Given the description of an element on the screen output the (x, y) to click on. 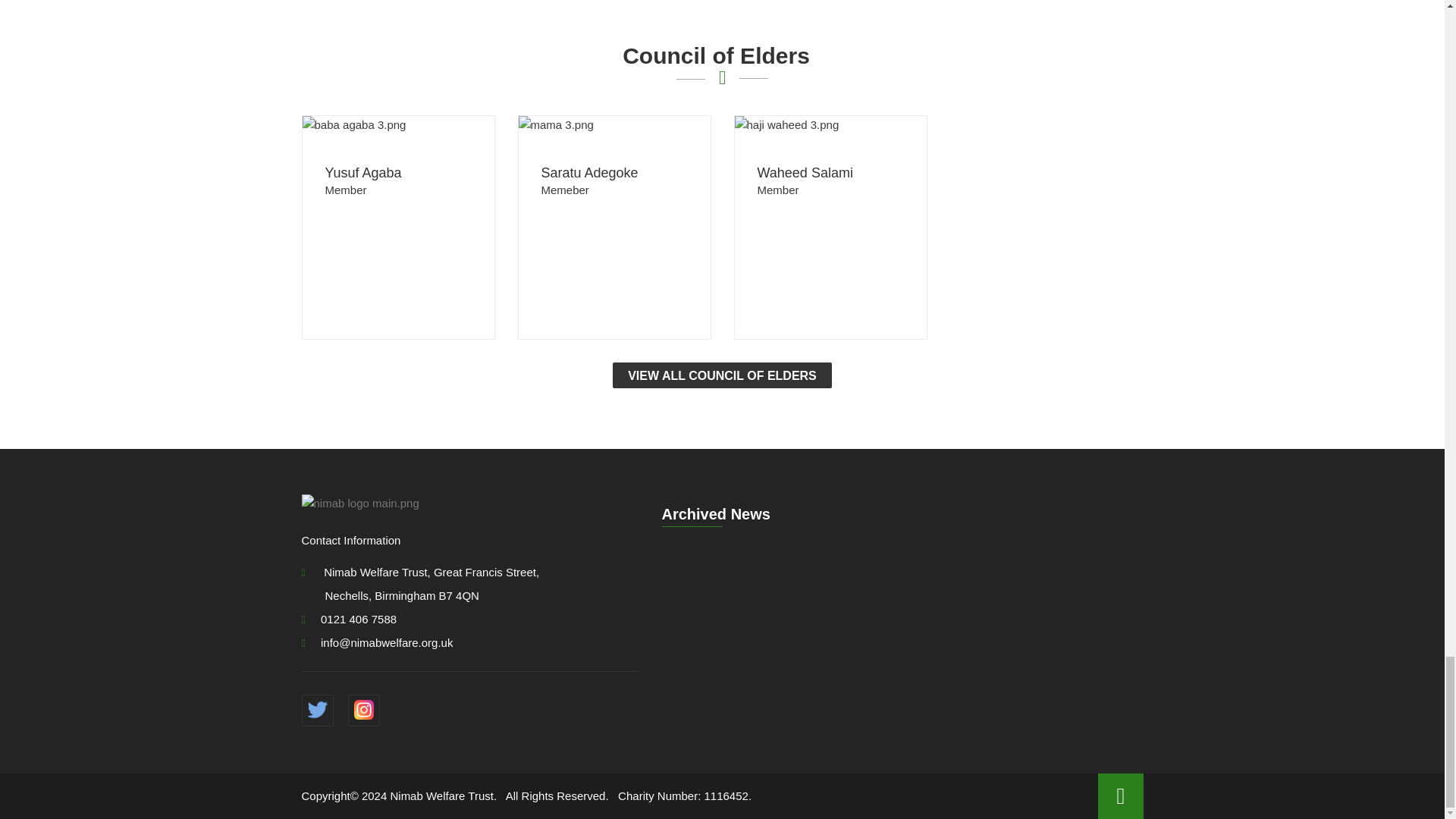
Nimab Welfare Trust, Great Francis Street, (420, 572)
VIEW ALL COUNCIL OF ELDERS (721, 375)
0121 406 7588 (349, 619)
Nechells, Birmingham B7 4QN (401, 596)
